Given the description of an element on the screen output the (x, y) to click on. 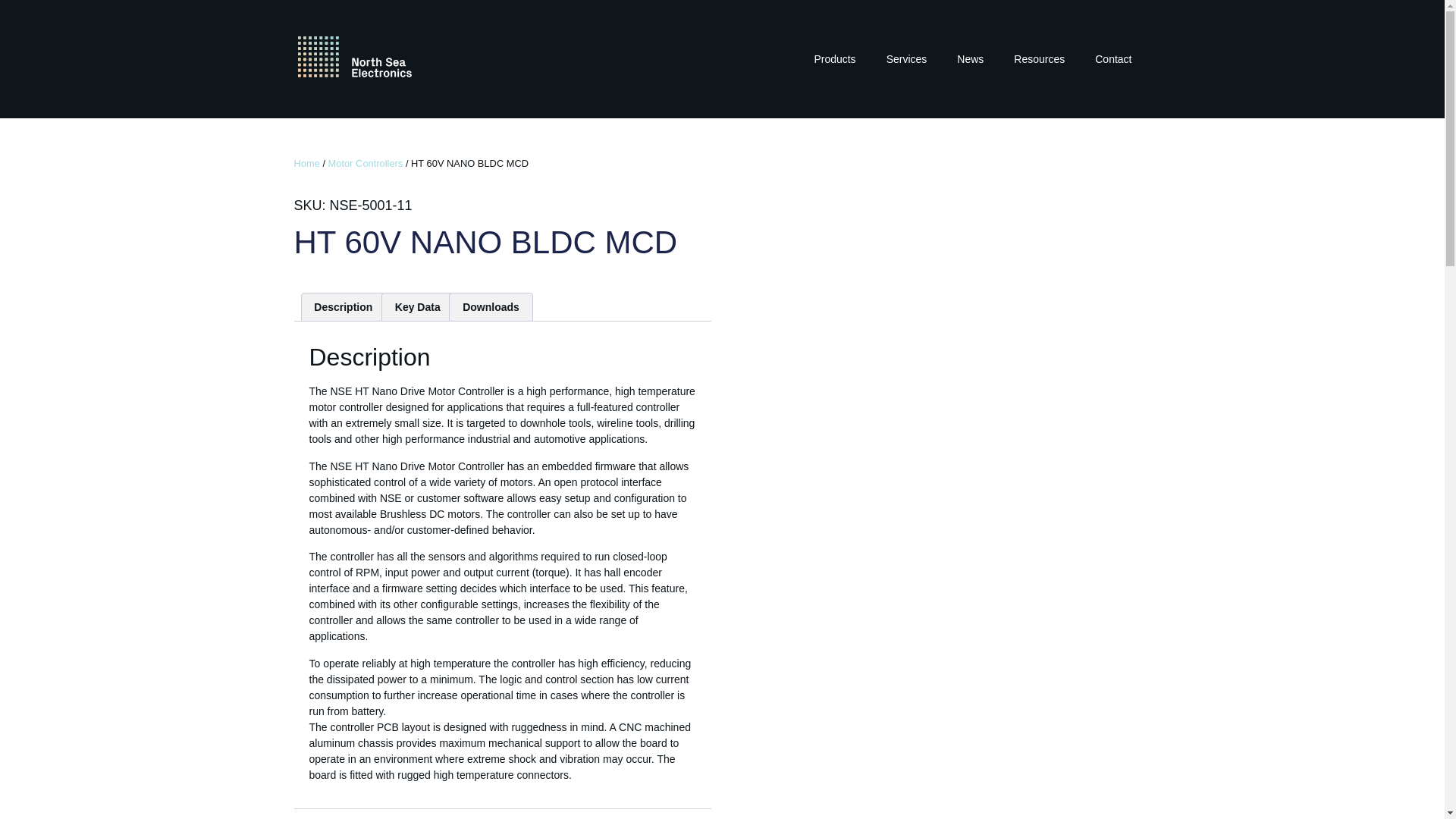
Home (307, 163)
Resources (1039, 58)
Key Data (416, 307)
Services (906, 58)
Motor Controllers (366, 163)
Downloads (490, 307)
Description (343, 307)
Products (833, 58)
Contact (1113, 58)
News (970, 58)
